Given the description of an element on the screen output the (x, y) to click on. 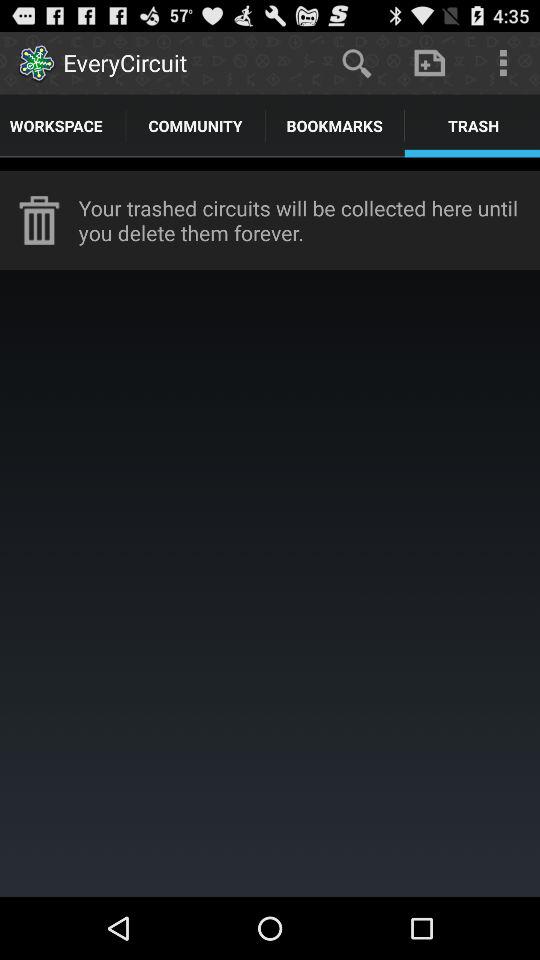
open item above the trash (429, 62)
